Given the description of an element on the screen output the (x, y) to click on. 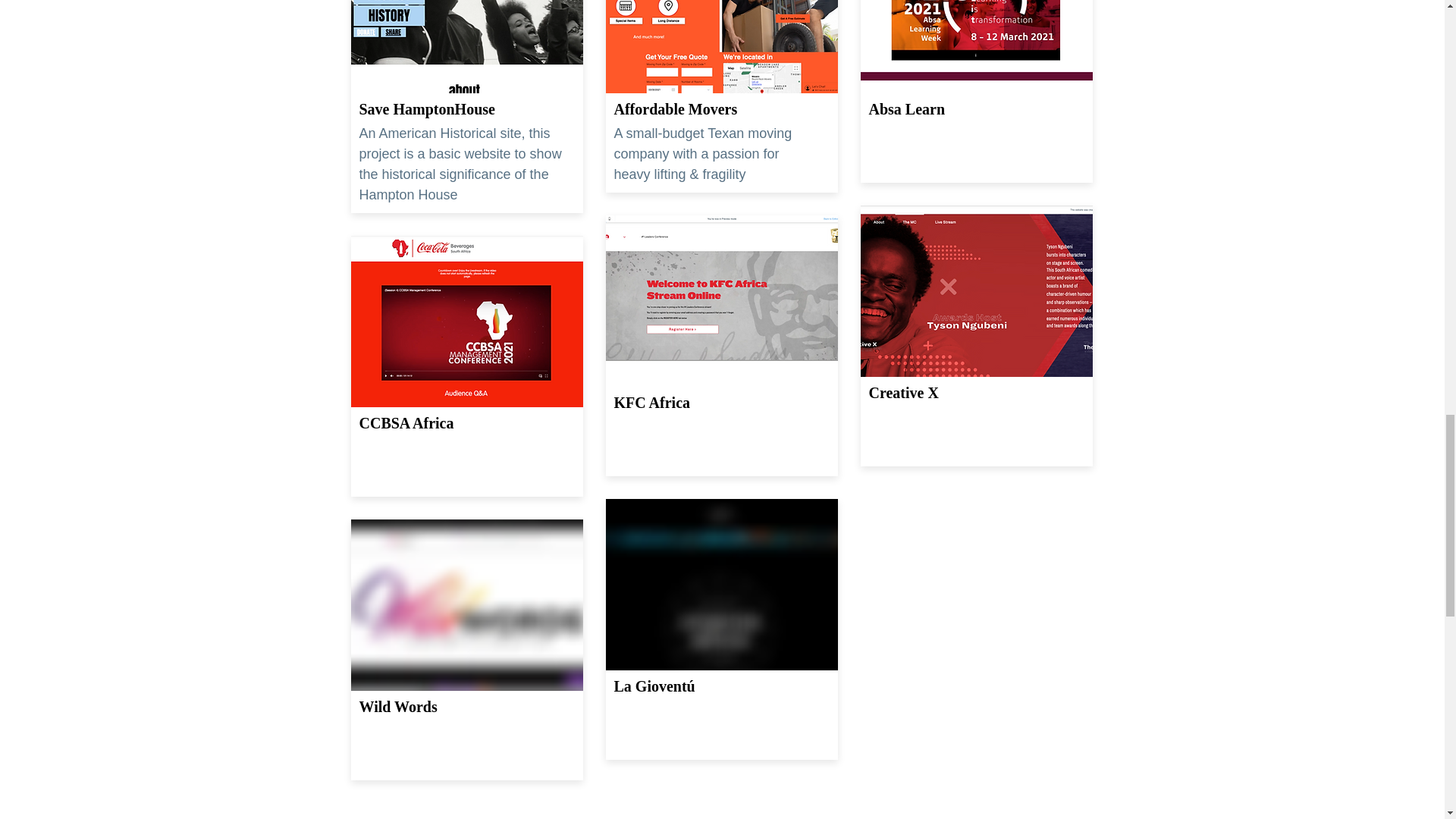
Screen Shot 2021-03-30 at 3.42.42 PM.png (721, 46)
Screen Shot 2021-03-30 at 2.49.55 PM.png (976, 46)
Screen Shot 2021-03-30 at 3.00.33 PM.png (466, 46)
Screen Shot 2021-03-30 at 2.36.31 PM.png (976, 290)
Screen Shot 2021-03-30 at 2.06.13 PM.png (721, 300)
Screen Shot 2021-03-30 at 1.37.40 PM.png (466, 605)
Screen Shot 2021-03-30 at 1.18.05 PM.png (721, 584)
Screen Shot 2021-03-30 at 2.45.56 PM.png (466, 321)
